Given the description of an element on the screen output the (x, y) to click on. 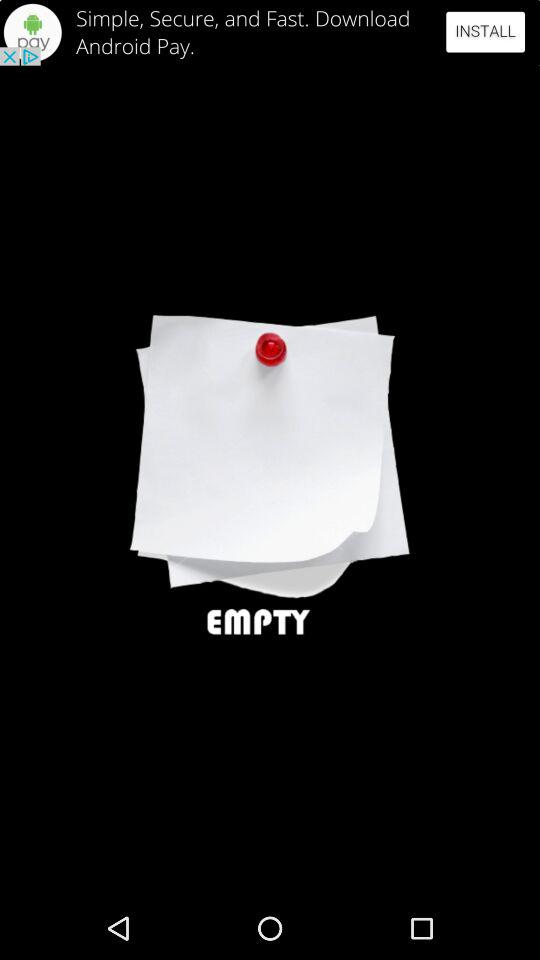
advertisement area (270, 32)
